Given the description of an element on the screen output the (x, y) to click on. 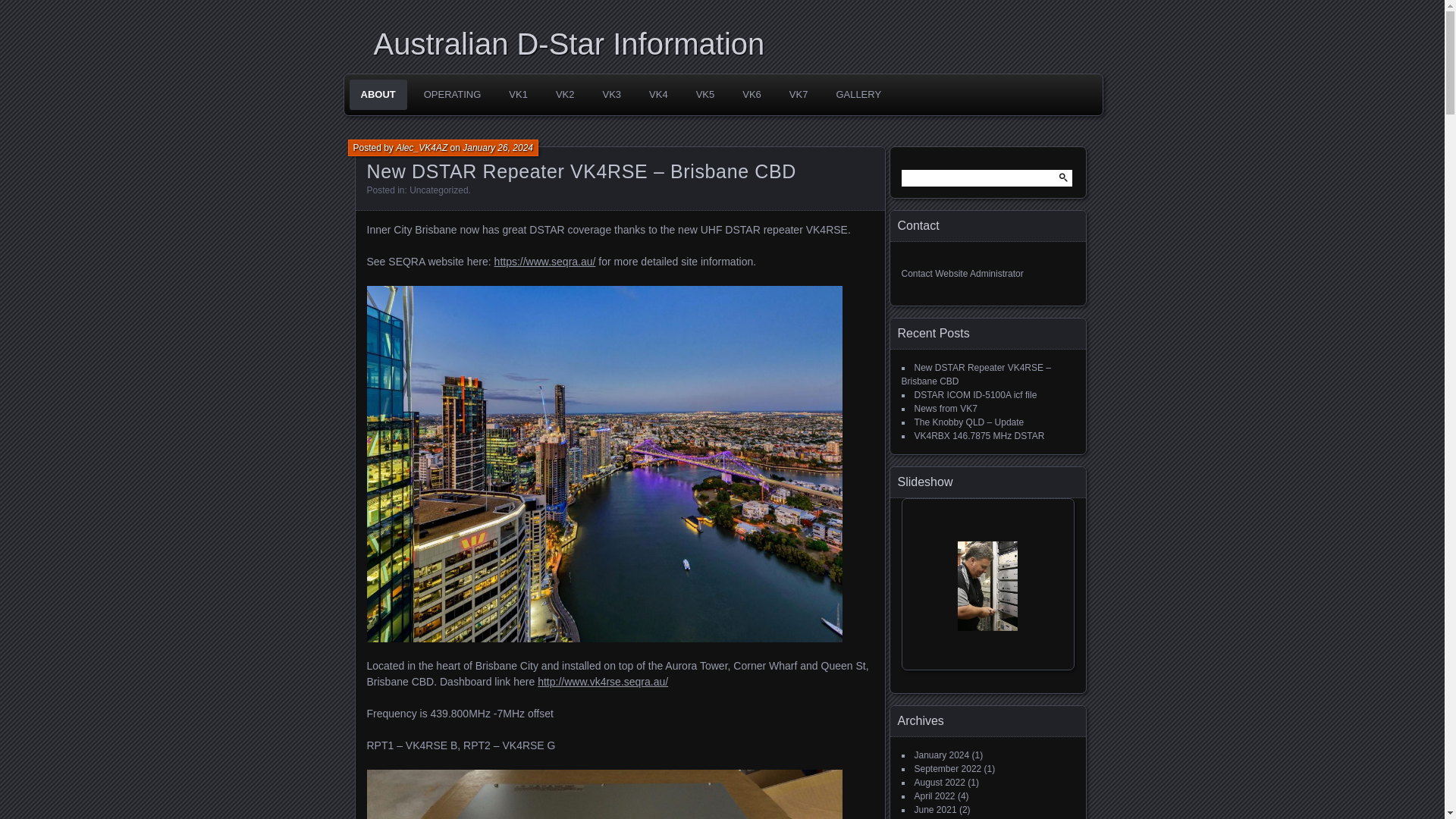
ABOUT (377, 94)
OPERATING (452, 94)
Australian D-Star Information (726, 44)
VK3 (611, 94)
VK2 (565, 94)
VK1 (517, 94)
VK4 (658, 94)
